Given the description of an element on the screen output the (x, y) to click on. 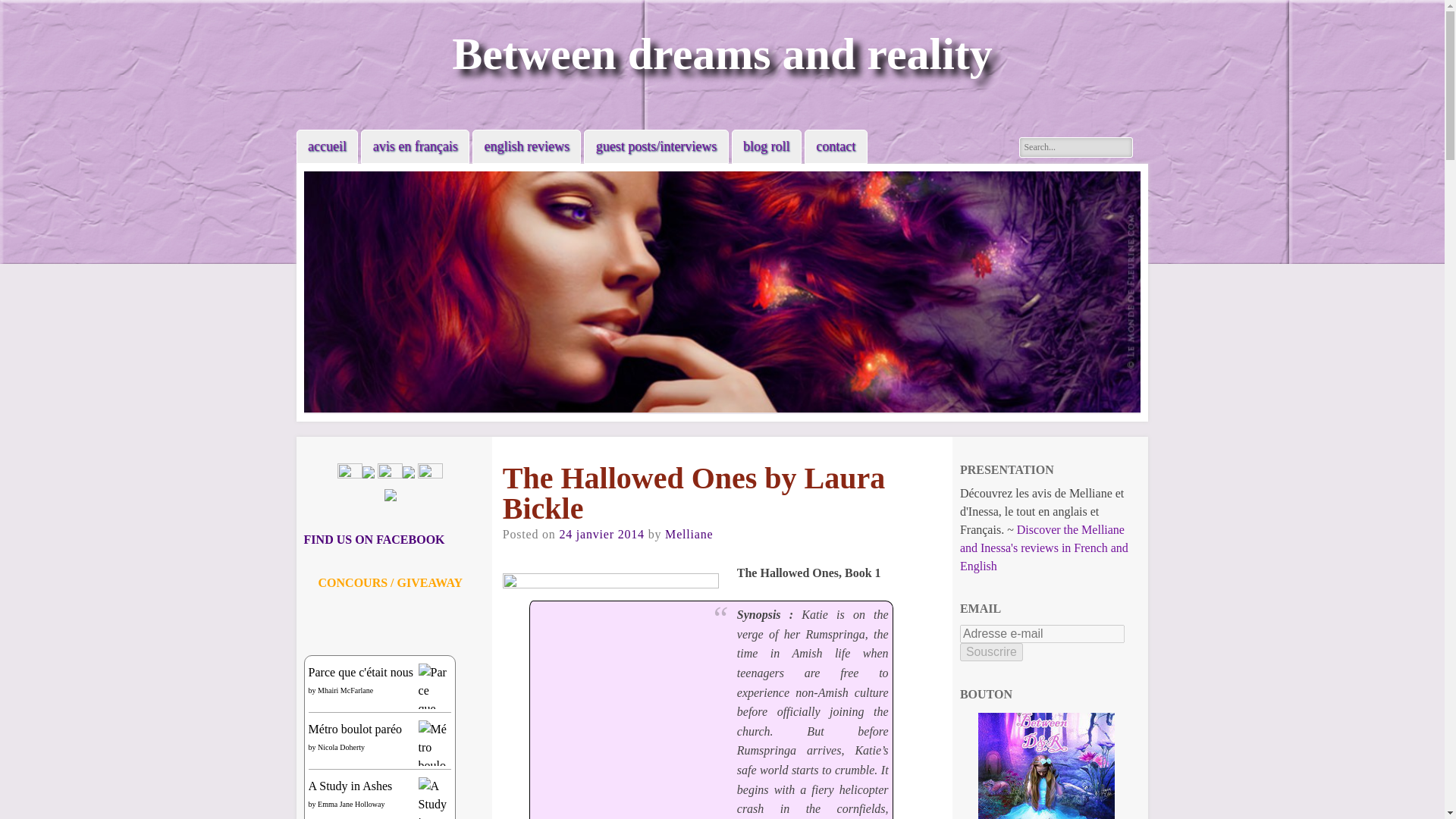
24 janvier 2014 (601, 533)
contact (835, 146)
Between dreams and reality (721, 53)
Melliane (689, 533)
Search (24, 9)
accueil (327, 146)
11 h 06 min (601, 533)
Between dreams and reality (721, 53)
View all posts by Melliane (689, 533)
english reviews (526, 146)
blog roll (766, 146)
